Given the description of an element on the screen output the (x, y) to click on. 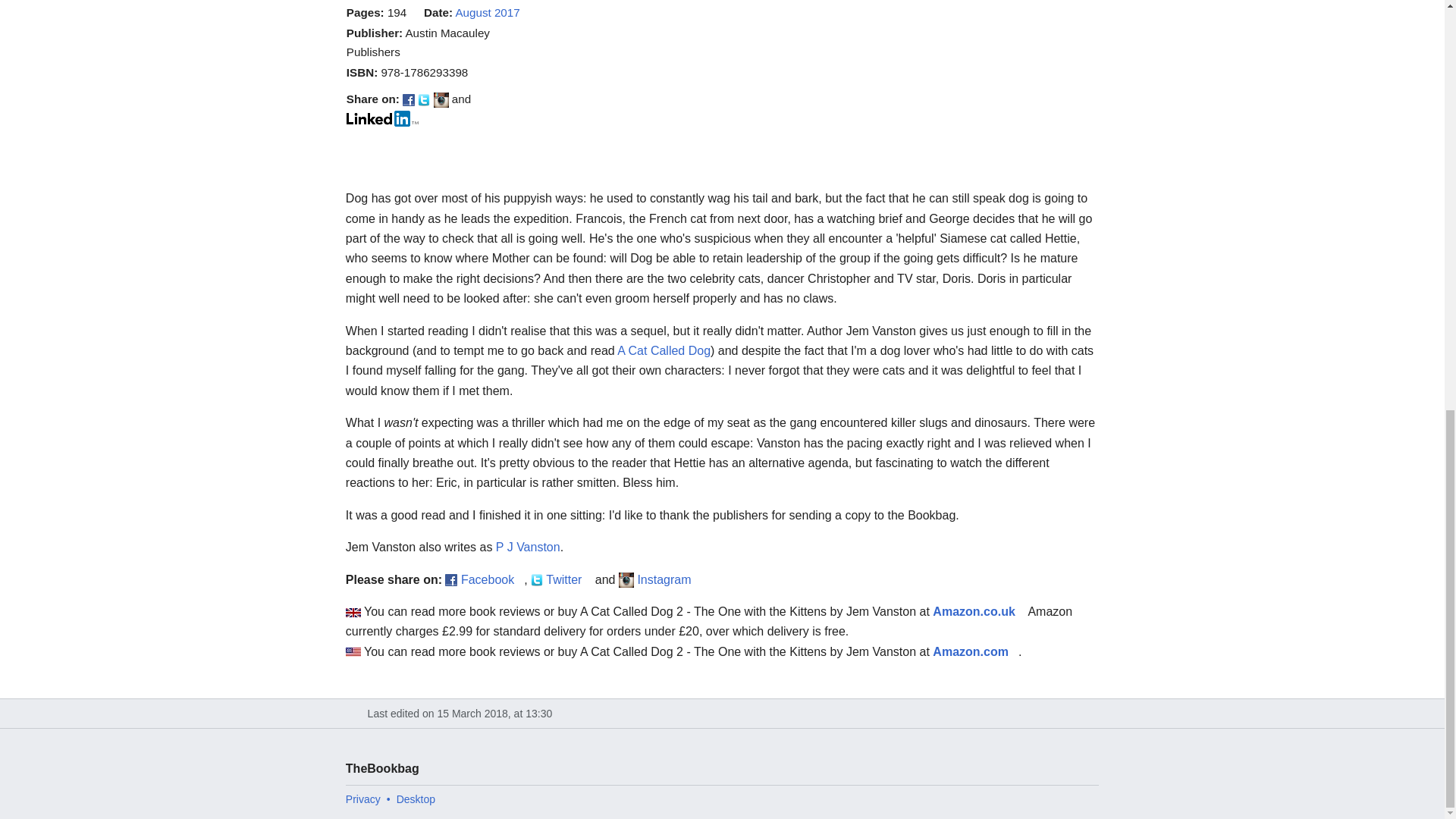
Amazon.co.uk (979, 611)
Privacy (363, 799)
A Cat Called Dog by Jem Vanston (663, 350)
Twitter (568, 578)
P J Vanston (528, 546)
August 2017 (486, 11)
Instagram (668, 578)
Category:August 2017 (486, 11)
Amazon.com (975, 651)
TheBookbag:Privacy policy (363, 799)
Facebook (492, 578)
Category:PJ Vanston (528, 546)
A Cat Called Dog (663, 350)
Last edited on 15 March 2018, at 13:30 (723, 713)
Desktop (415, 799)
